Given the description of an element on the screen output the (x, y) to click on. 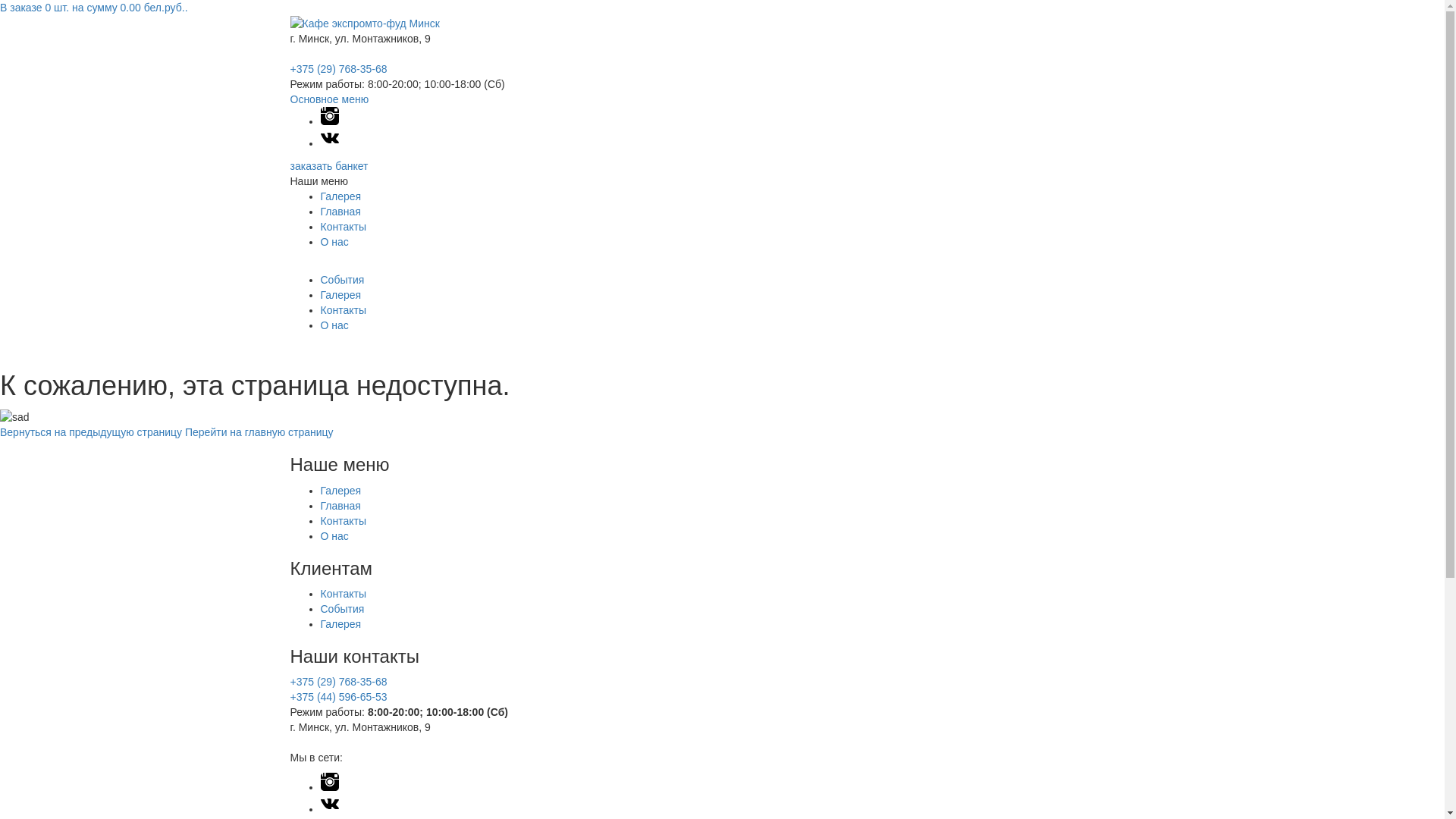
+375 (29) 768-35-68 Element type: text (337, 681)
+375 (44) 596-65-53 Element type: text (337, 696)
+375 (29) 768-35-68 Element type: text (337, 68)
